Given the description of an element on the screen output the (x, y) to click on. 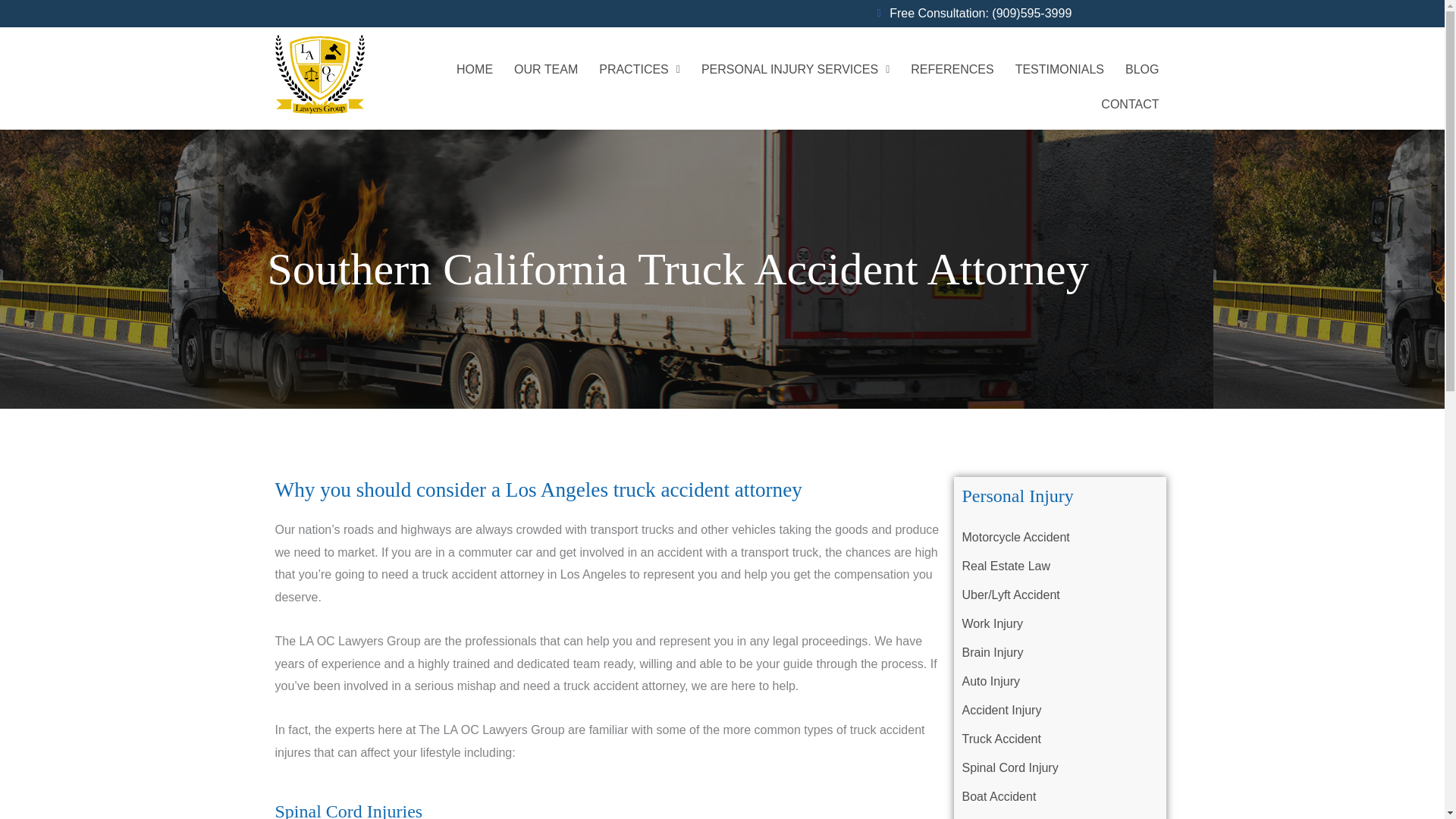
Work Injury (1059, 623)
TESTIMONIALS (1059, 69)
REFERENCES (951, 69)
Auto Injury (1059, 681)
Accident Injury (1059, 710)
CONTACT (1129, 104)
HOME (474, 69)
Boat Accident (1059, 796)
PRACTICES (639, 69)
BLOG (1142, 69)
Truck Accident (1059, 738)
OUR TEAM (545, 69)
Brain Injury (1059, 652)
PERSONAL INJURY SERVICES (794, 69)
Motorcycle Accident (1059, 537)
